Given the description of an element on the screen output the (x, y) to click on. 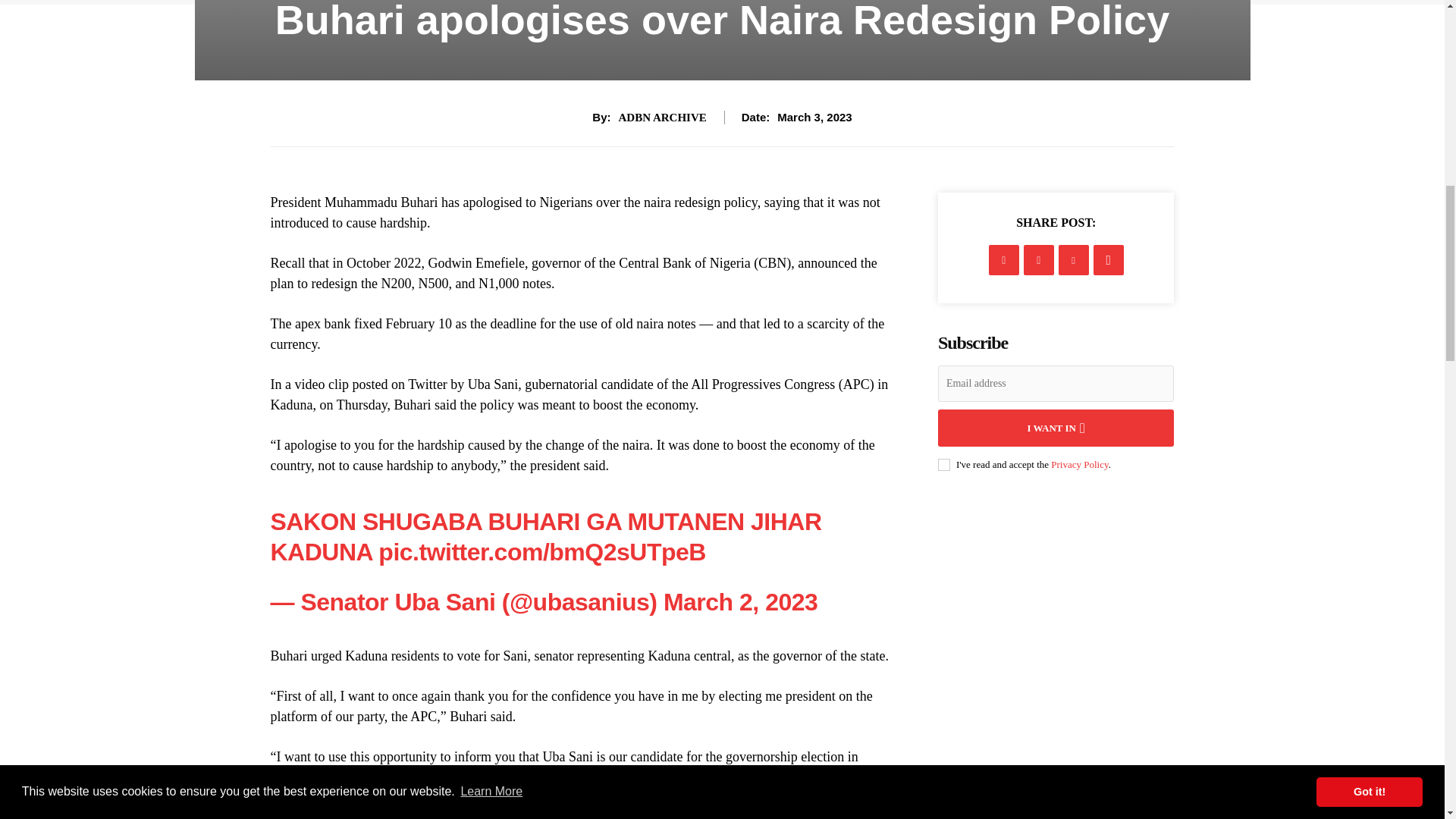
Facebook (1003, 259)
WhatsApp (1108, 259)
Pinterest (1073, 259)
Twitter (1038, 259)
